Given the description of an element on the screen output the (x, y) to click on. 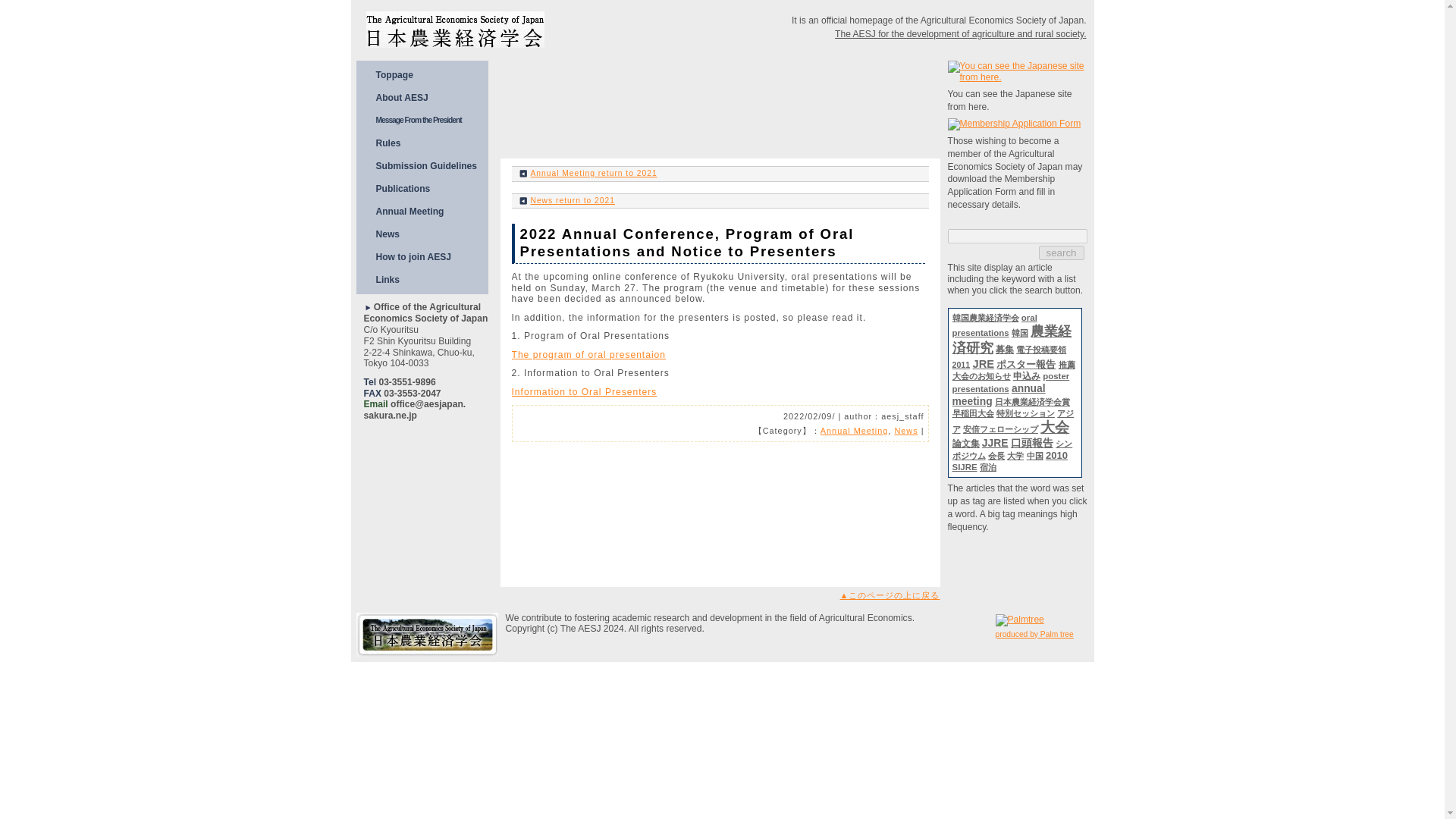
12 topics (981, 375)
About AESJ (432, 97)
The program of oral presentaion (596, 354)
Message From the President (432, 119)
Annual Meeting (432, 210)
Rules (432, 142)
Information to Oral Presenters (591, 392)
News (432, 233)
16 topics (1004, 348)
search (1061, 252)
4 topics (1040, 348)
10 topics (1011, 382)
2011 (961, 364)
News (905, 429)
3 topics (1019, 332)
